Given the description of an element on the screen output the (x, y) to click on. 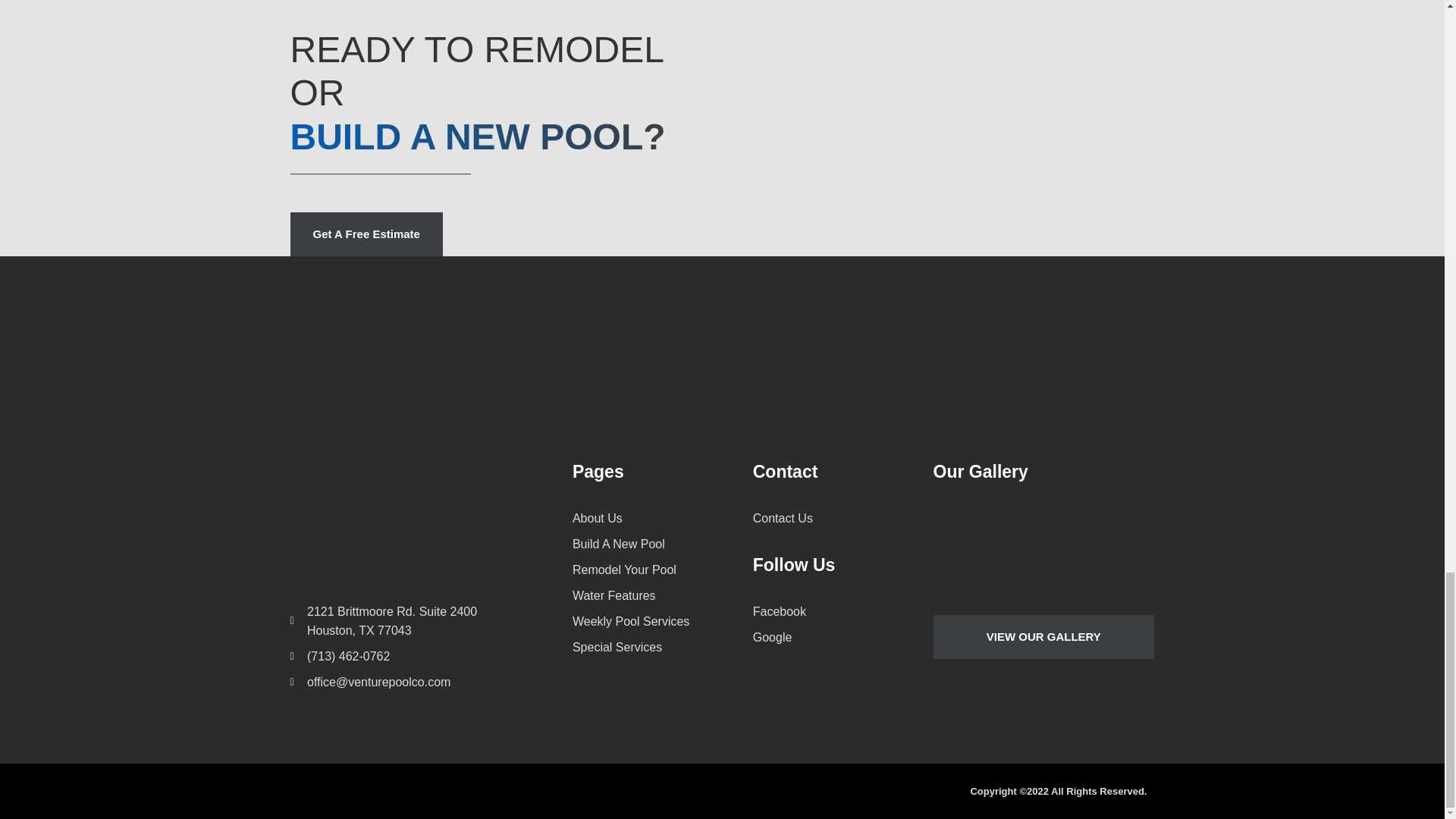
Water Features (662, 595)
Special Services (662, 647)
Remodel Your Pool (662, 569)
Build A New Pool (662, 543)
Contact Us (842, 517)
Facebook (842, 610)
Google (842, 637)
Get A Free Estimate (365, 234)
Weekly Pool Services (662, 620)
About Us (662, 517)
